Given the description of an element on the screen output the (x, y) to click on. 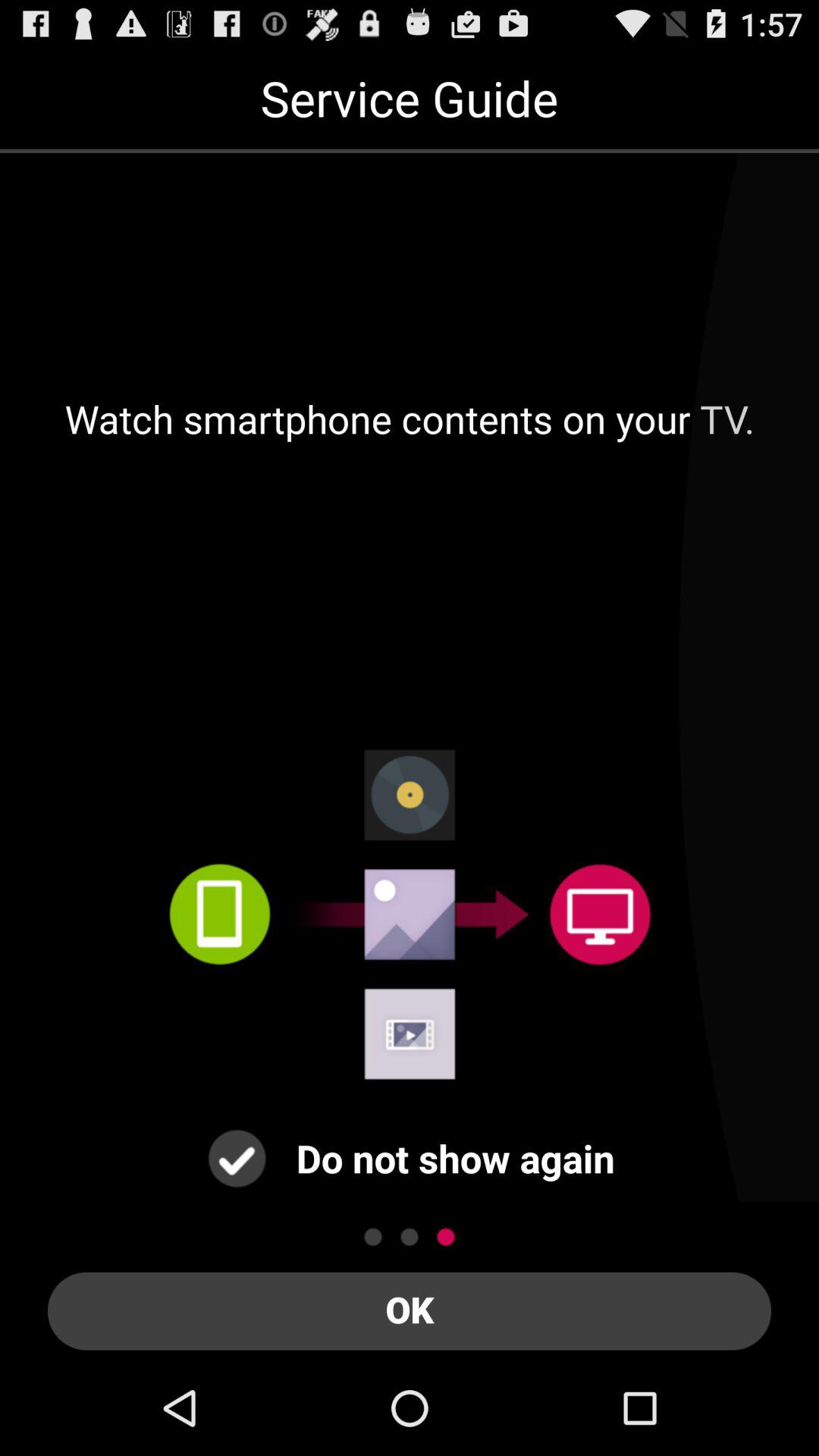
donotshowagain (237, 1158)
